Given the description of an element on the screen output the (x, y) to click on. 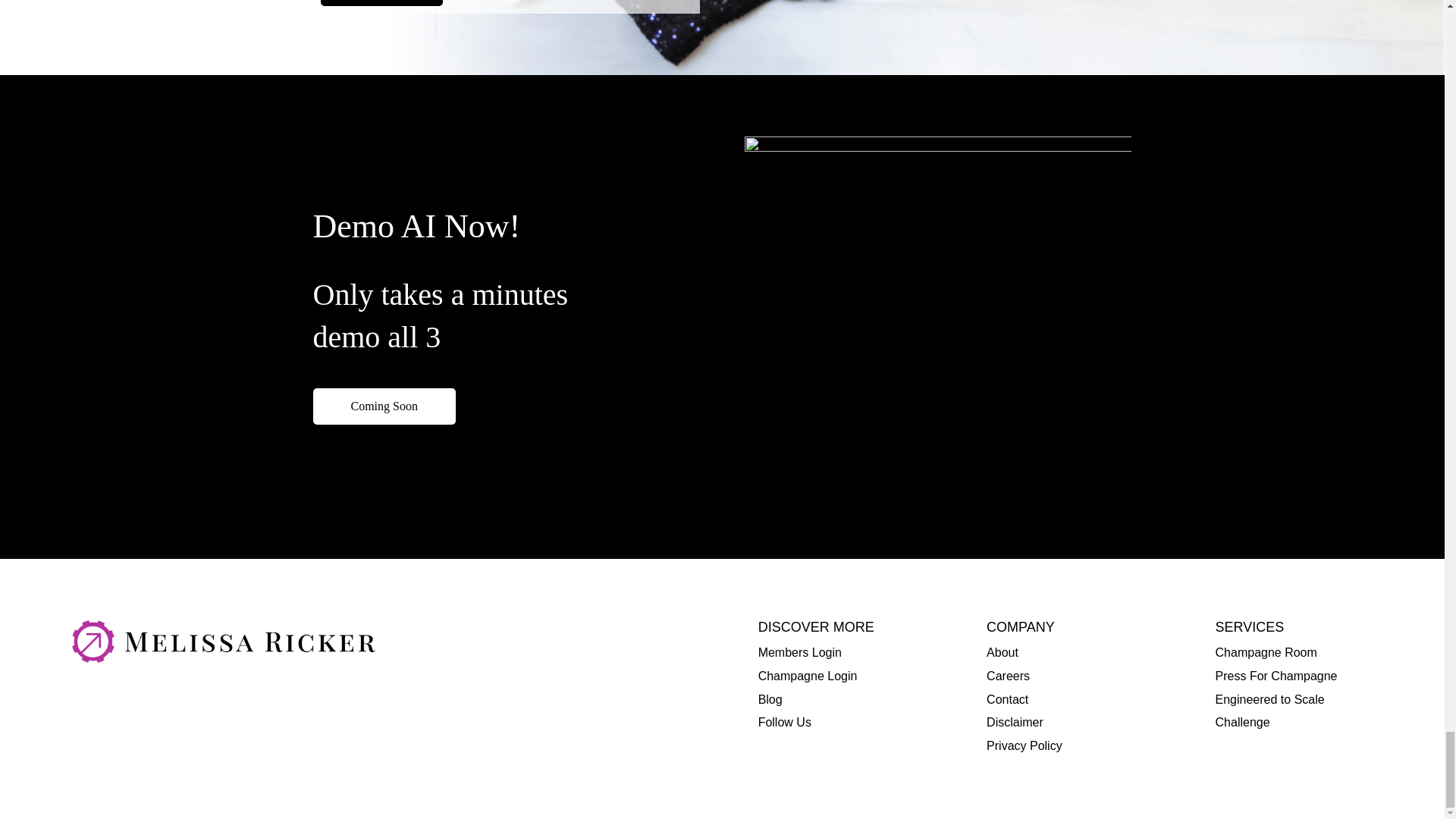
Follow Us (784, 721)
Press For Champagne (1276, 675)
Engineered to Scale (1269, 698)
Disclaimer (1015, 721)
Join Now (381, 2)
Blog (770, 698)
Champagne Login (807, 675)
Members Login (799, 652)
Privacy Policy (1024, 745)
Champagne Room (1266, 652)
Challenge (1242, 721)
Contact (1007, 698)
About (1002, 652)
Careers (1008, 675)
Coming Soon (383, 406)
